Given the description of an element on the screen output the (x, y) to click on. 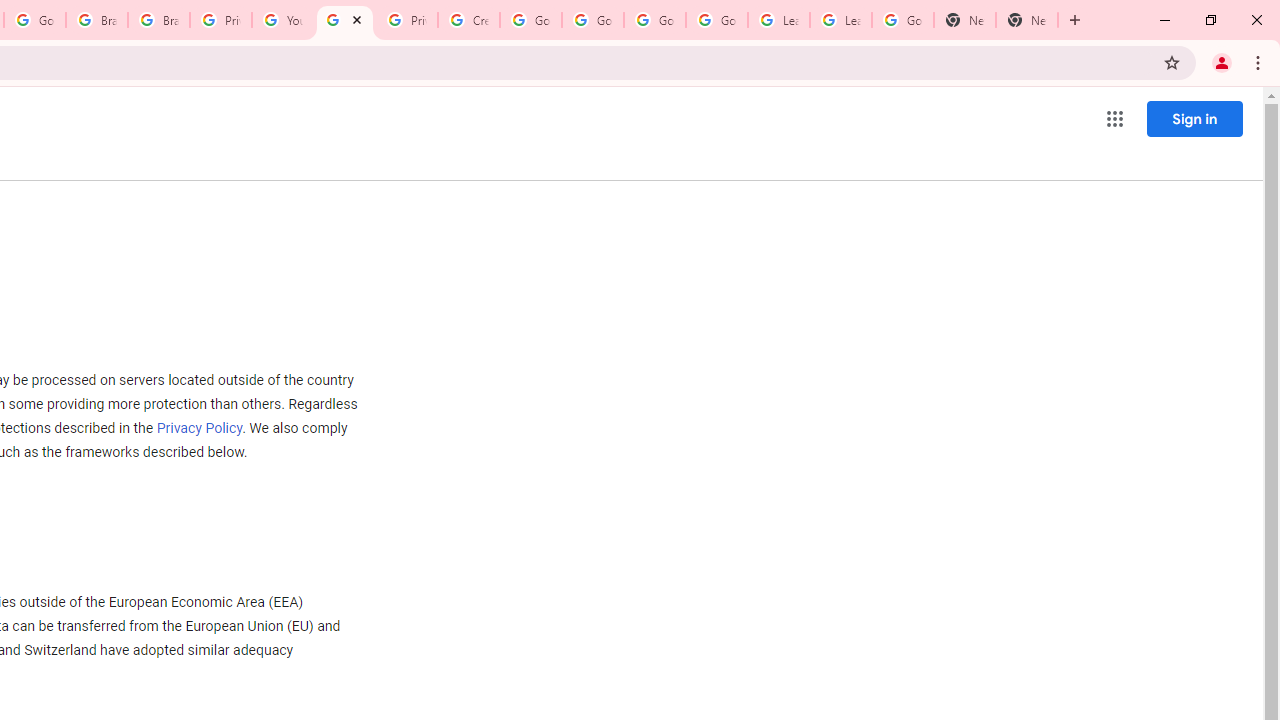
New Tab (964, 20)
Google Account Help (592, 20)
Brand Resource Center (158, 20)
Brand Resource Center (96, 20)
New Tab (1026, 20)
Create your Google Account (468, 20)
